Given the description of an element on the screen output the (x, y) to click on. 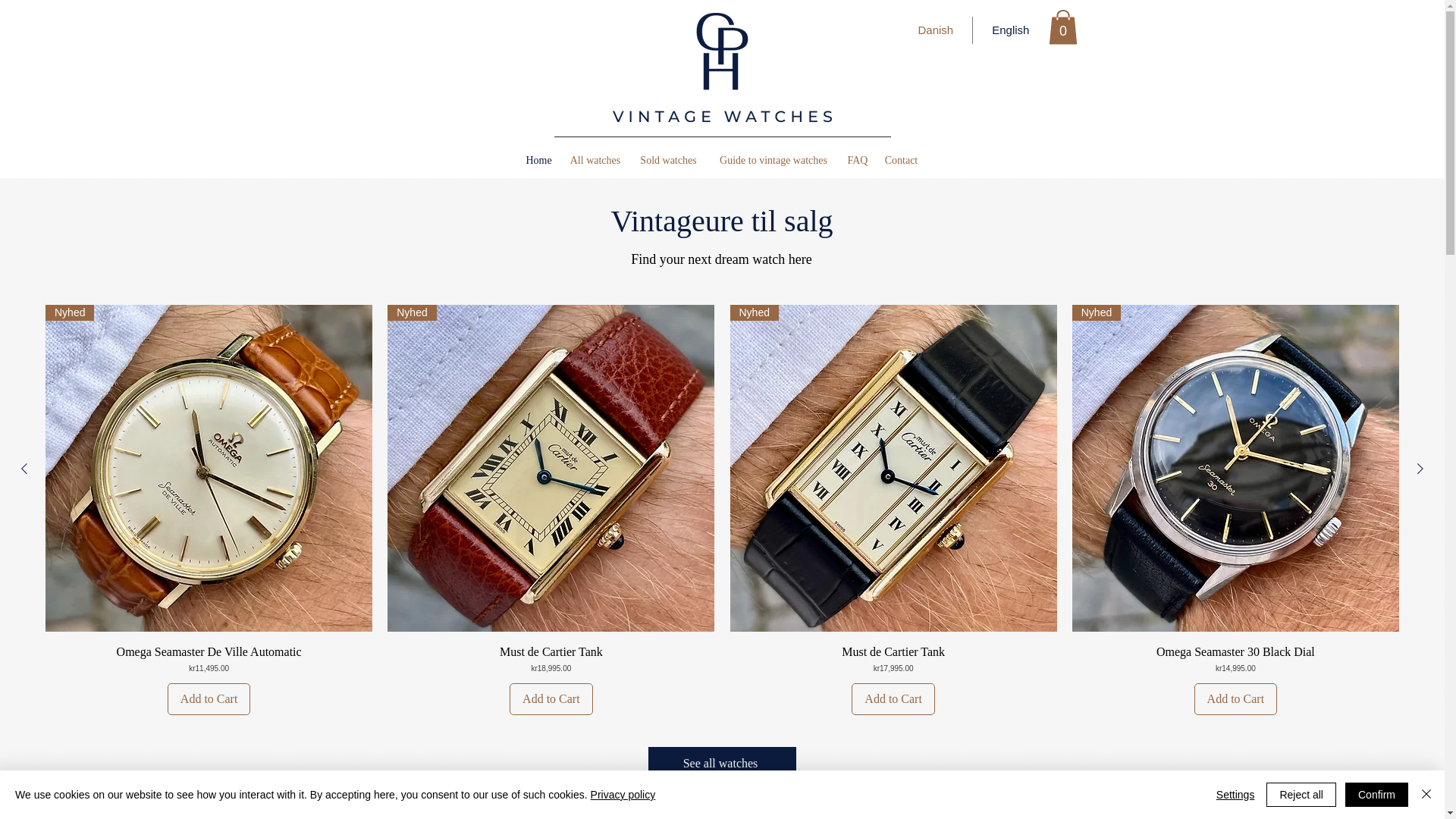
Nyhed (893, 467)
All watches (595, 160)
Add to Cart (892, 698)
Add to Cart (208, 659)
Danish (208, 698)
Nyhed (935, 30)
Add to Cart (550, 659)
